Given the description of an element on the screen output the (x, y) to click on. 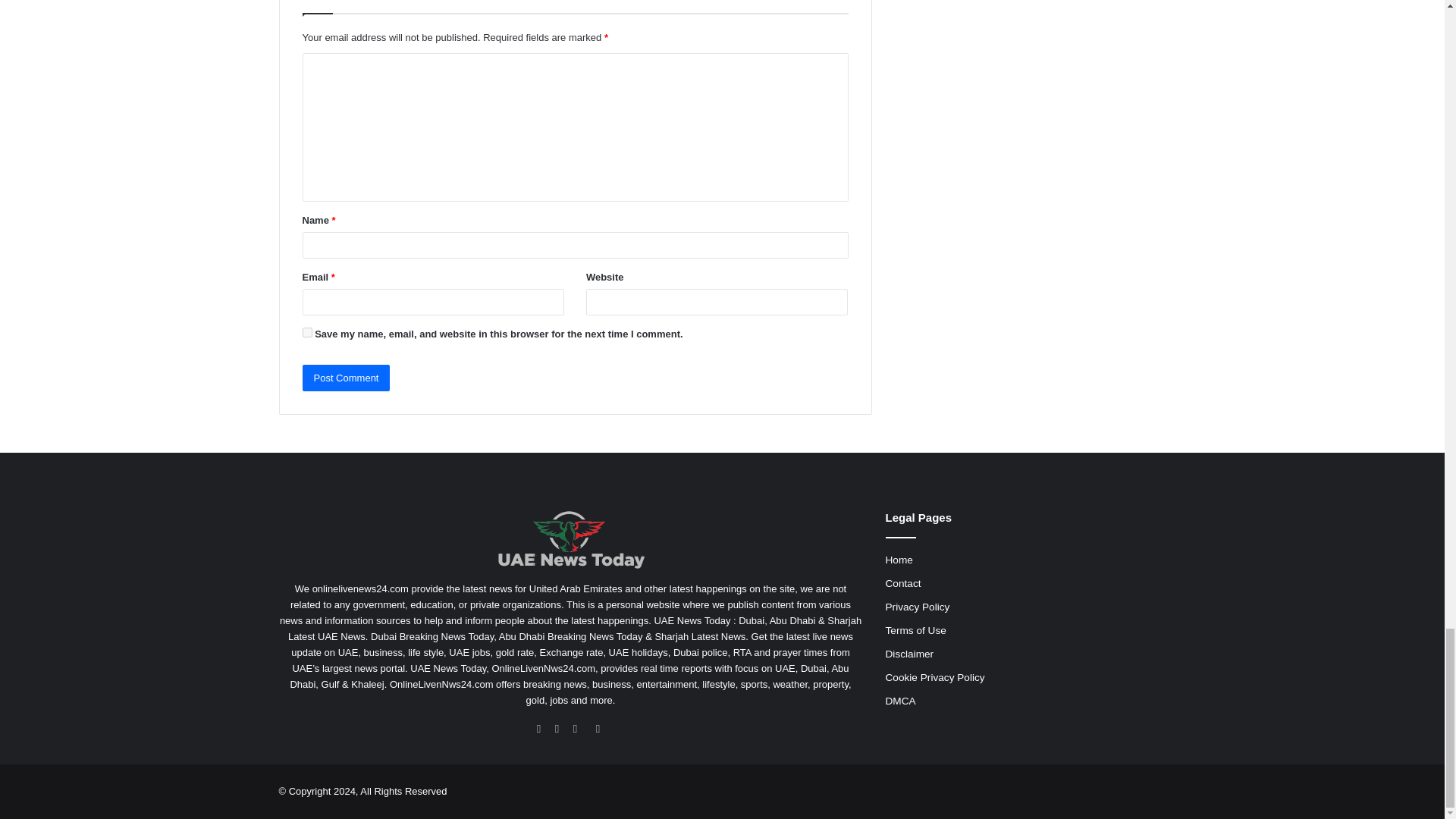
Post Comment (345, 377)
yes (306, 332)
